Given the description of an element on the screen output the (x, y) to click on. 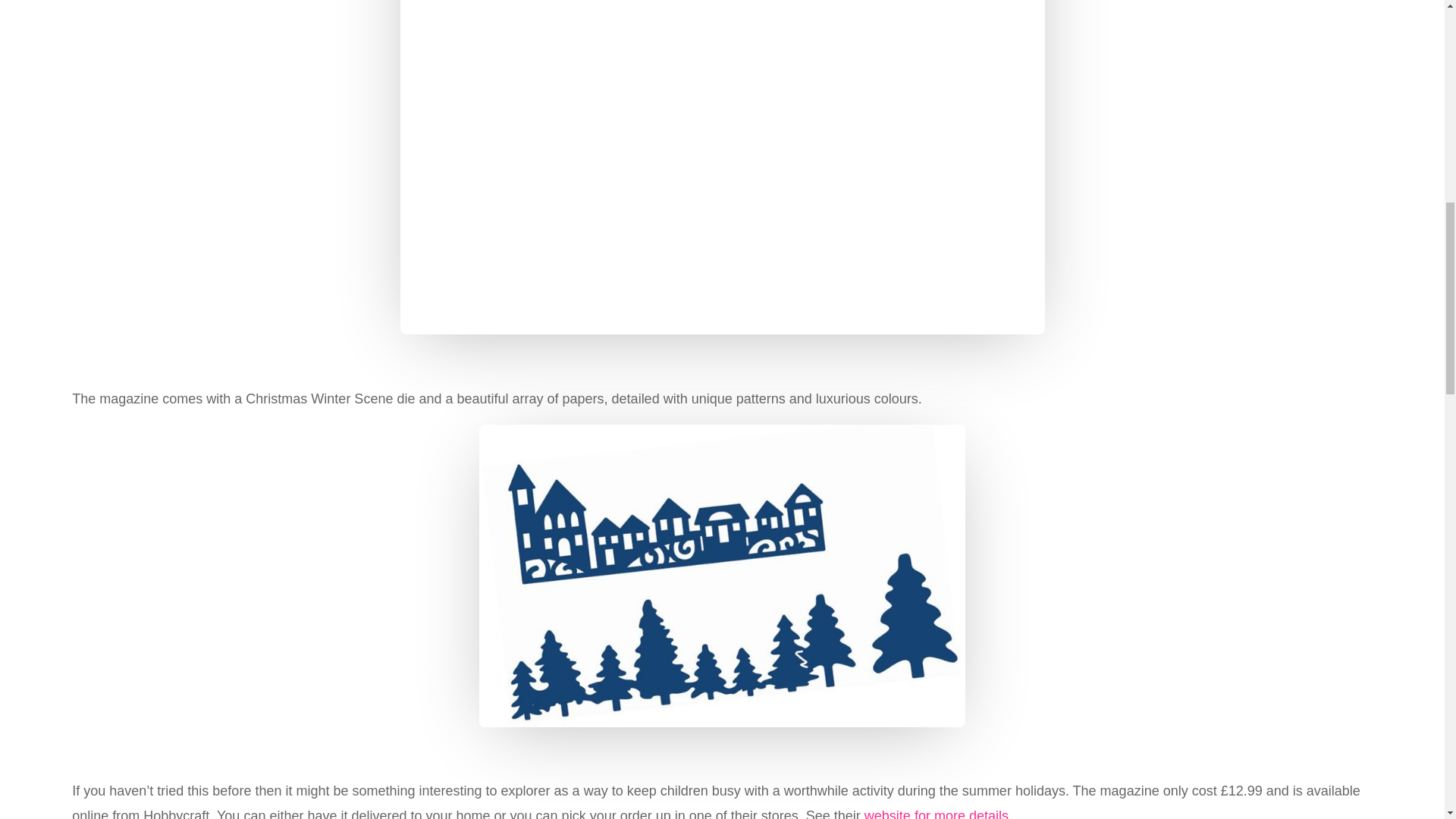
website for more details. (937, 813)
